Given the description of an element on the screen output the (x, y) to click on. 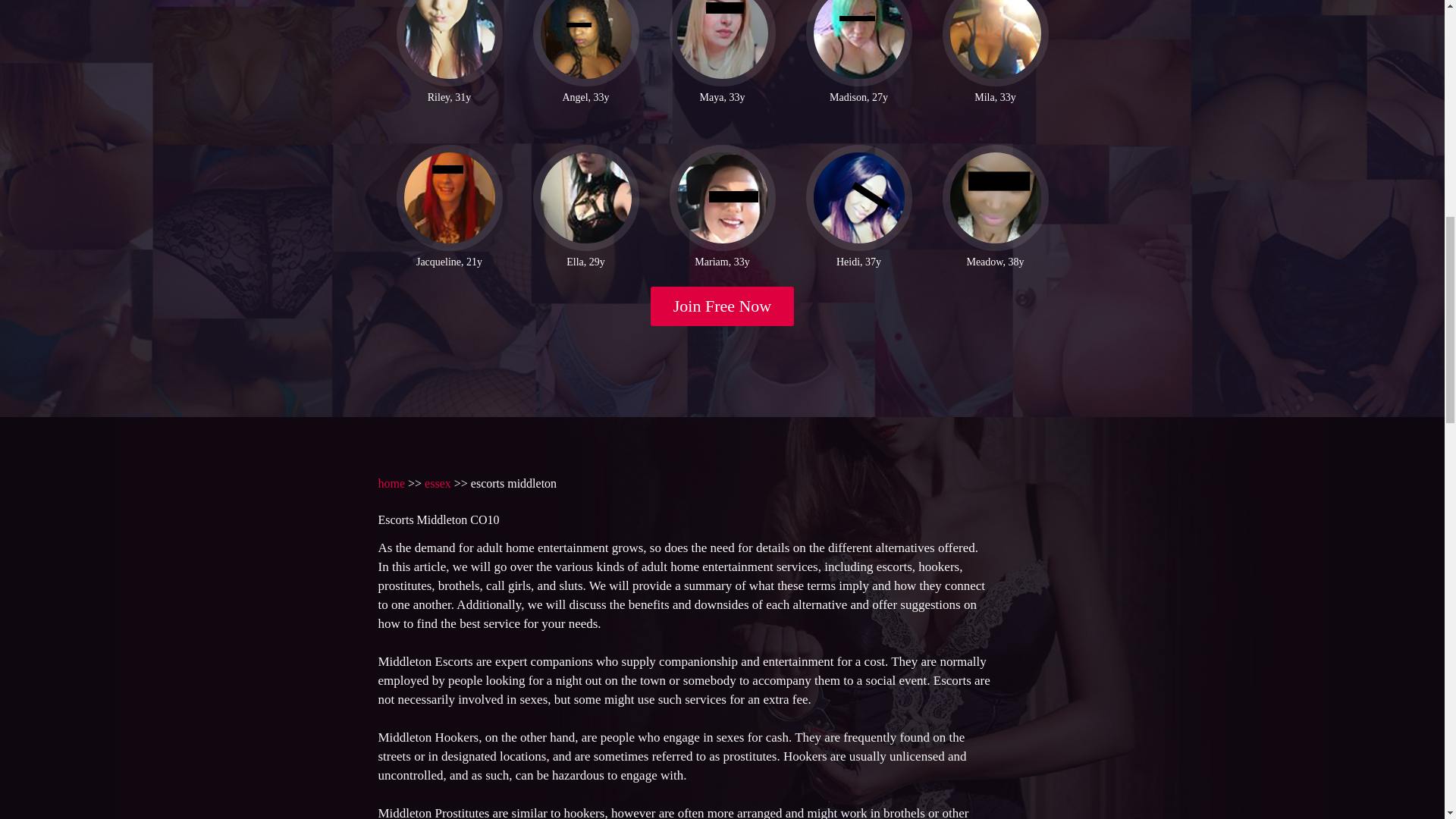
Join (722, 305)
Join Free Now (722, 305)
home (390, 482)
essex (438, 482)
